Given the description of an element on the screen output the (x, y) to click on. 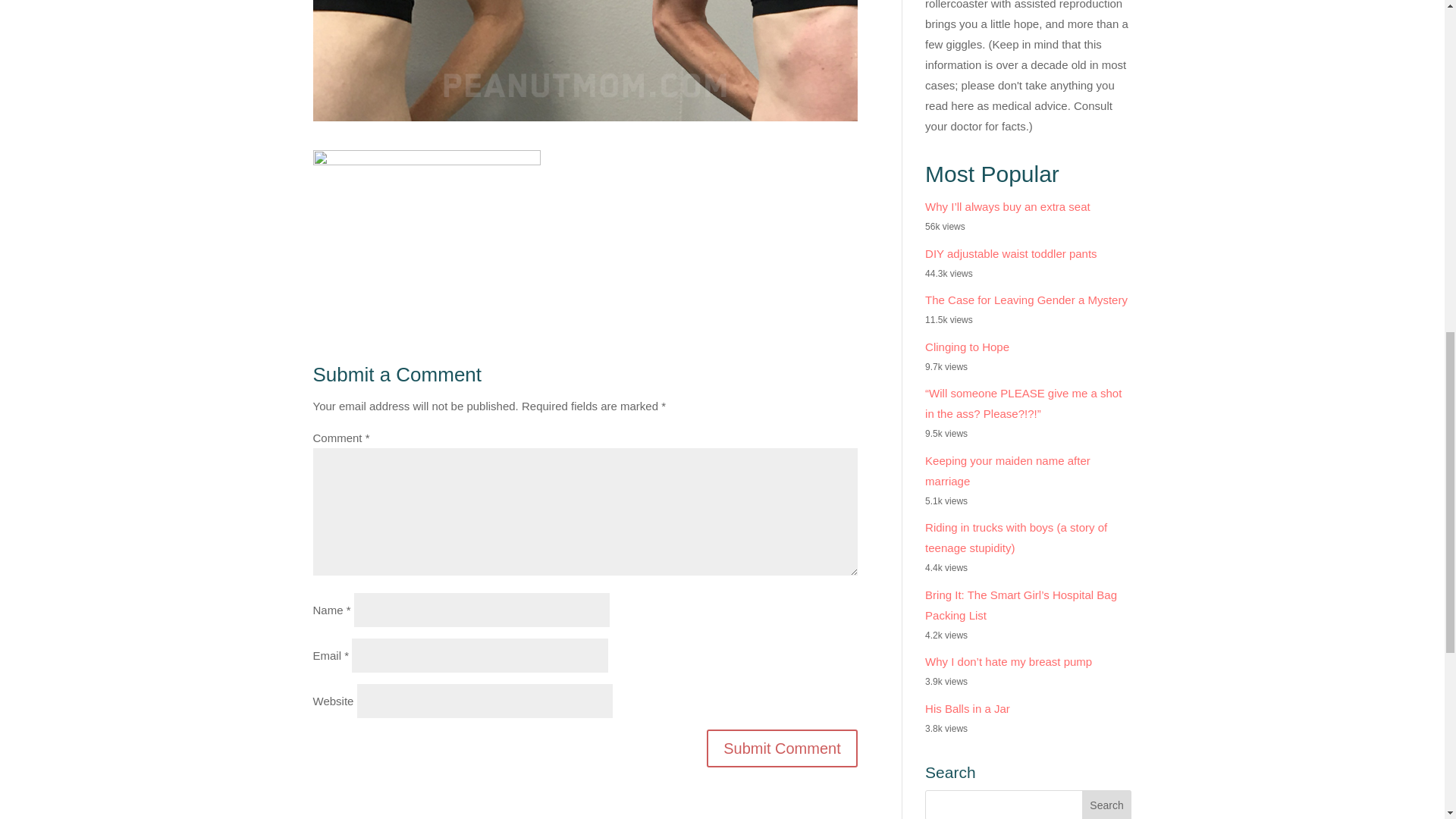
The Case for Leaving Gender a Mystery (1025, 299)
DIY adjustable waist toddler pants (1010, 253)
Submit Comment (781, 748)
Keeping your maiden name after marriage (1007, 470)
Clinging to Hope (966, 346)
Search (1106, 804)
Submit Comment (781, 748)
